Given the description of an element on the screen output the (x, y) to click on. 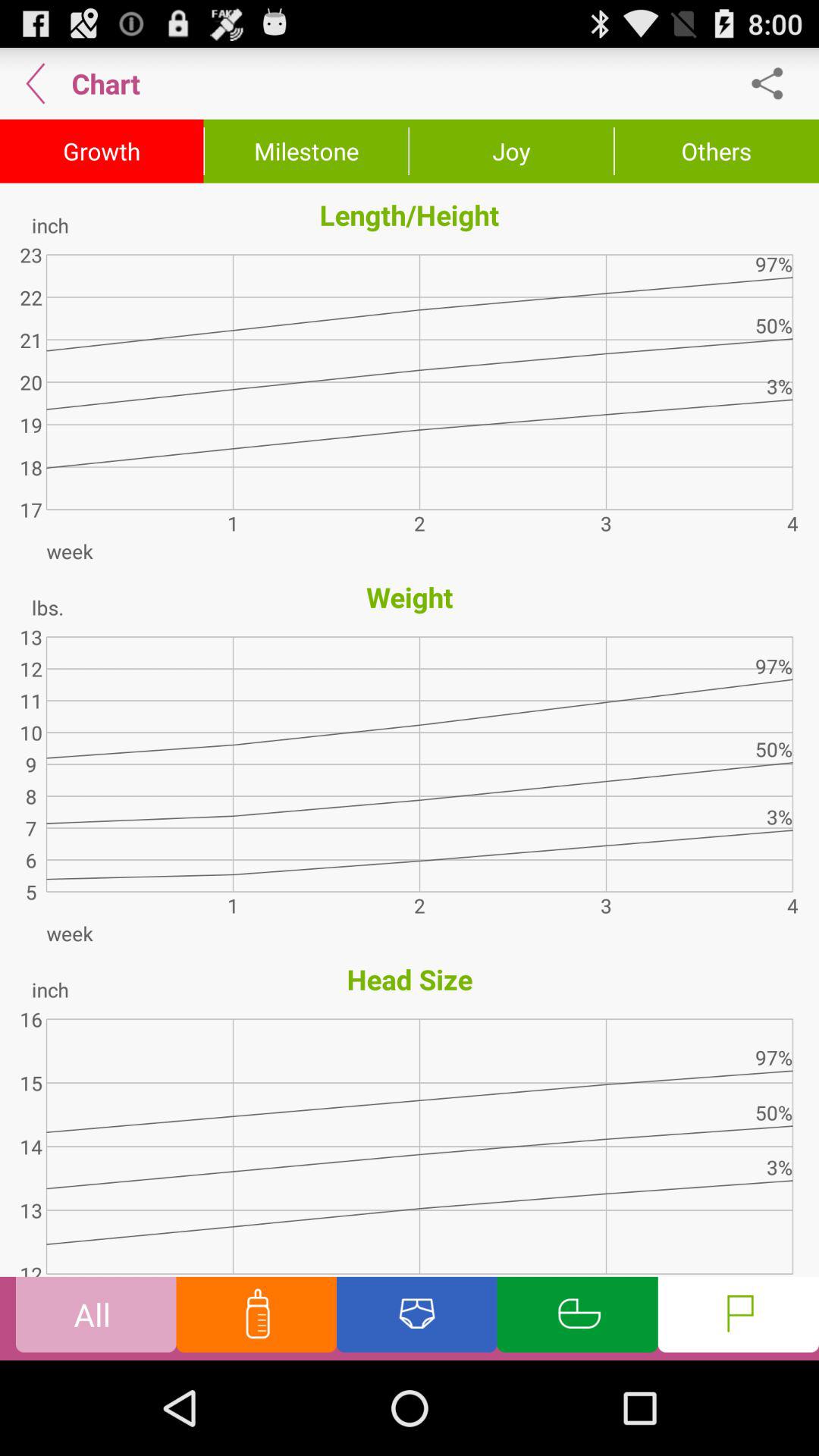
add chart info (577, 1318)
